Given the description of an element on the screen output the (x, y) to click on. 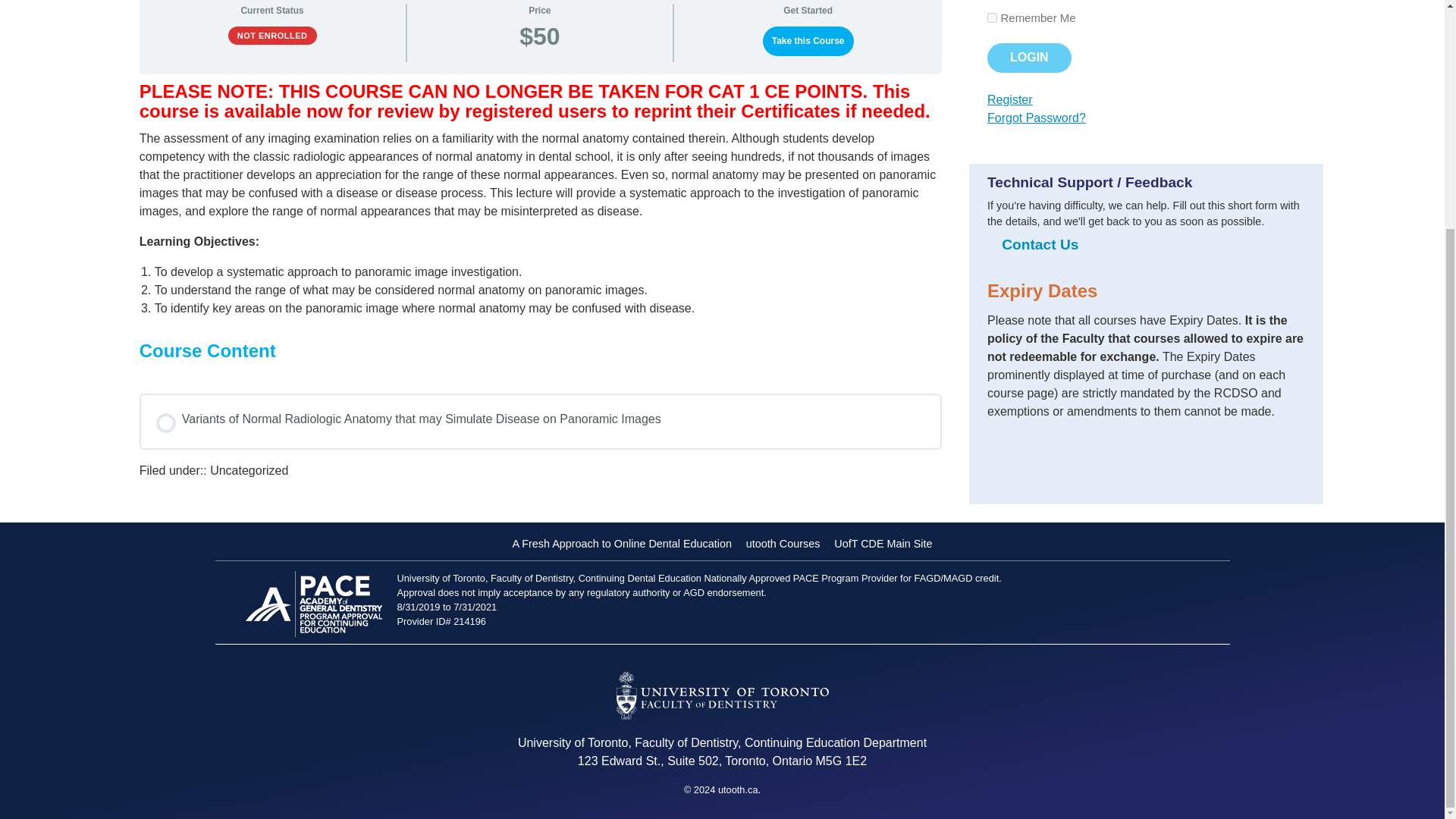
1 (992, 17)
pace-logo (313, 603)
Login (1029, 57)
Forgot Password? (1036, 117)
contact us (1040, 244)
Register (1009, 99)
